Given the description of an element on the screen output the (x, y) to click on. 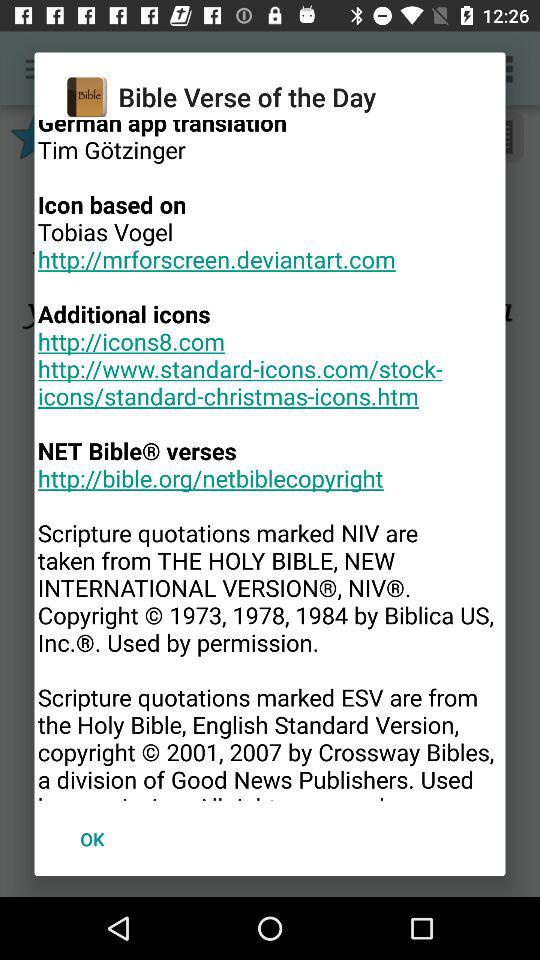
turn on icon below version 10 85 icon (92, 838)
